Given the description of an element on the screen output the (x, y) to click on. 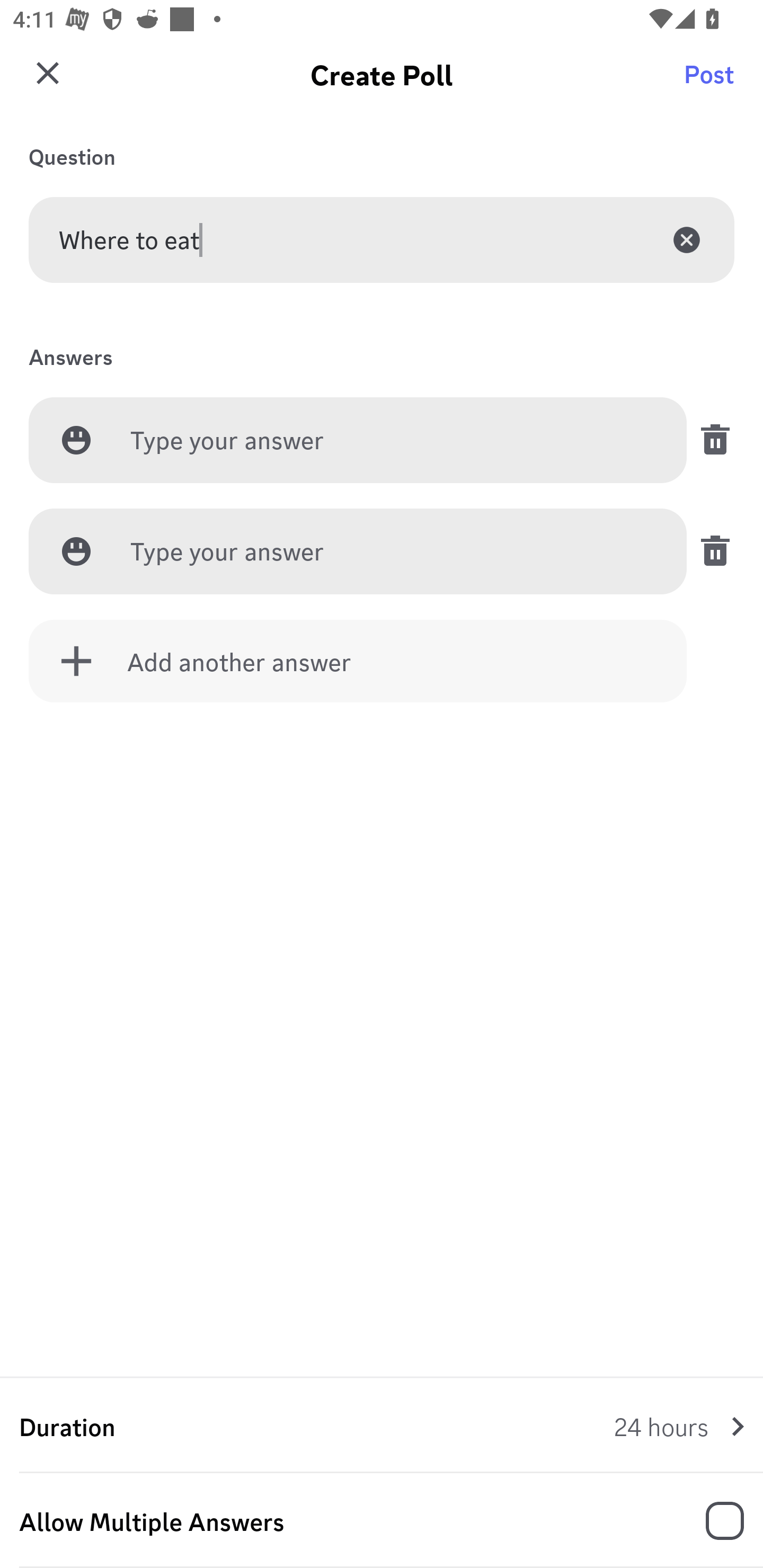
general (channel) general general (channel) (387, 82)
Back (44, 82)
Search (711, 82)
Where to eat Question (381, 239)
Clear (686, 239)
Add media, answer 1 (75, 439)
Remove answer 1 (710, 439)
Type your answer Answer 1 (393, 440)
Add media, answer 2 (75, 550)
Remove answer 2 (710, 550)
Type your answer Answer 2 (393, 551)
Add another answer (357, 660)
Duration 24 hours Duration 24 hours (381, 1425)
Allow Multiple Answers,  Allow Multiple Answers (381, 1520)
Record Voice Message (711, 1522)
